Given the description of an element on the screen output the (x, y) to click on. 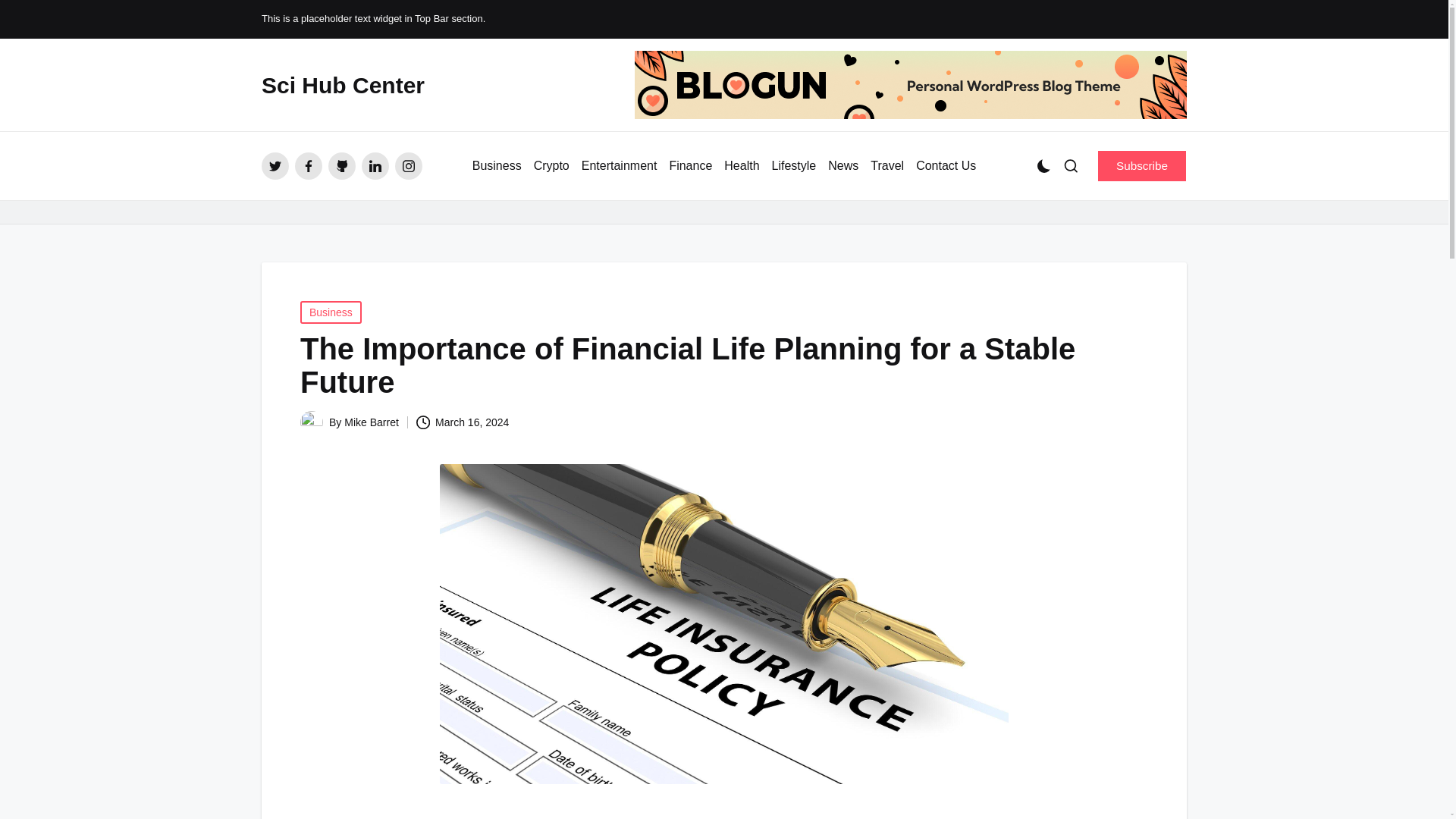
View all posts by Mike Barret (370, 422)
Finance (689, 166)
linkedin.com (374, 165)
twitter.com (275, 165)
facebook.com (308, 165)
Business (496, 166)
Sci Hub Center (343, 84)
Mike Barret (370, 422)
Business (330, 312)
Subscribe (1141, 165)
instagram.com (408, 165)
github.com (342, 165)
Lifestyle (793, 166)
Entertainment (619, 166)
Contact Us (945, 166)
